Given the description of an element on the screen output the (x, y) to click on. 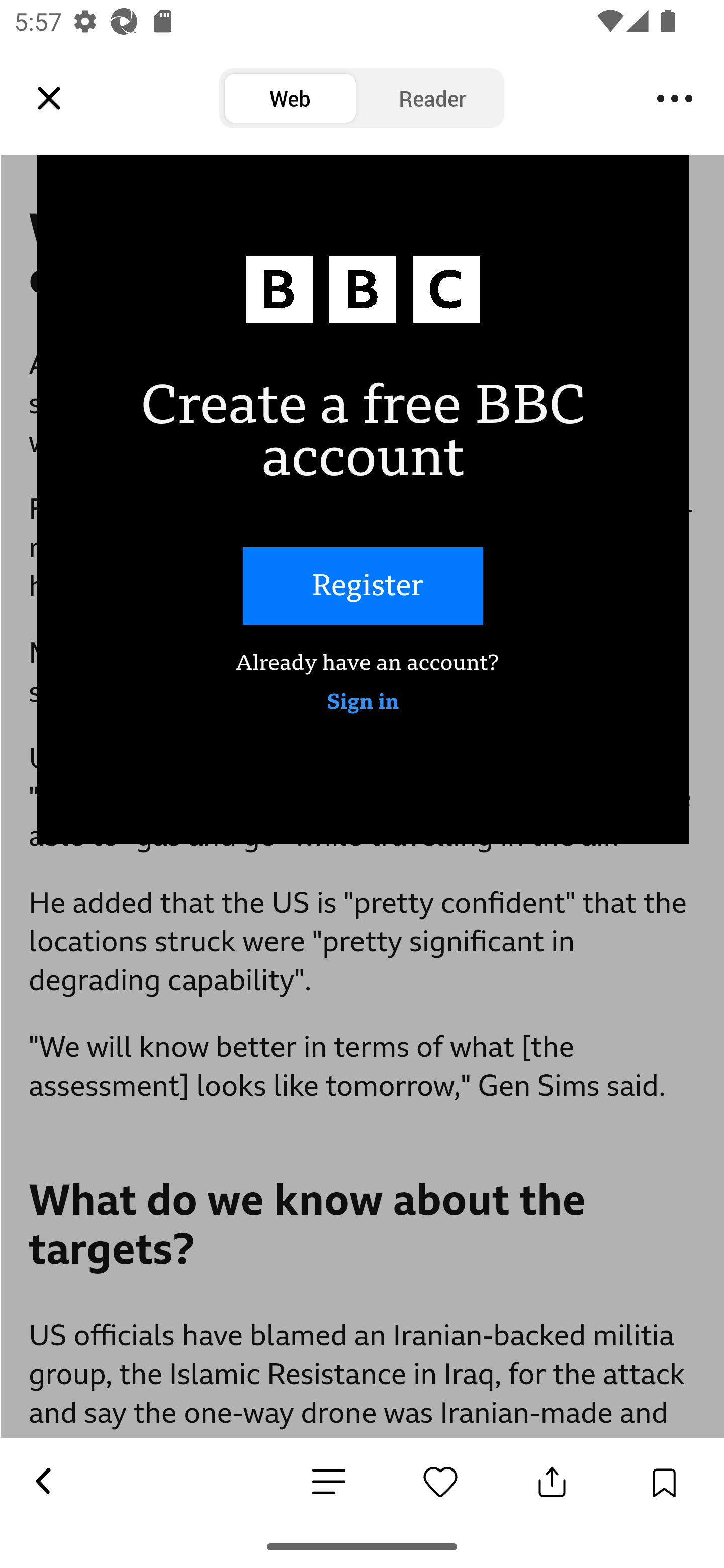
Reader (432, 98)
Menu (674, 98)
Leading Icon (49, 98)
Back Button (42, 1481)
News Detail Emotion (440, 1481)
Share Button (551, 1481)
Save Button (663, 1481)
News Detail Emotion (329, 1482)
